Given the description of an element on the screen output the (x, y) to click on. 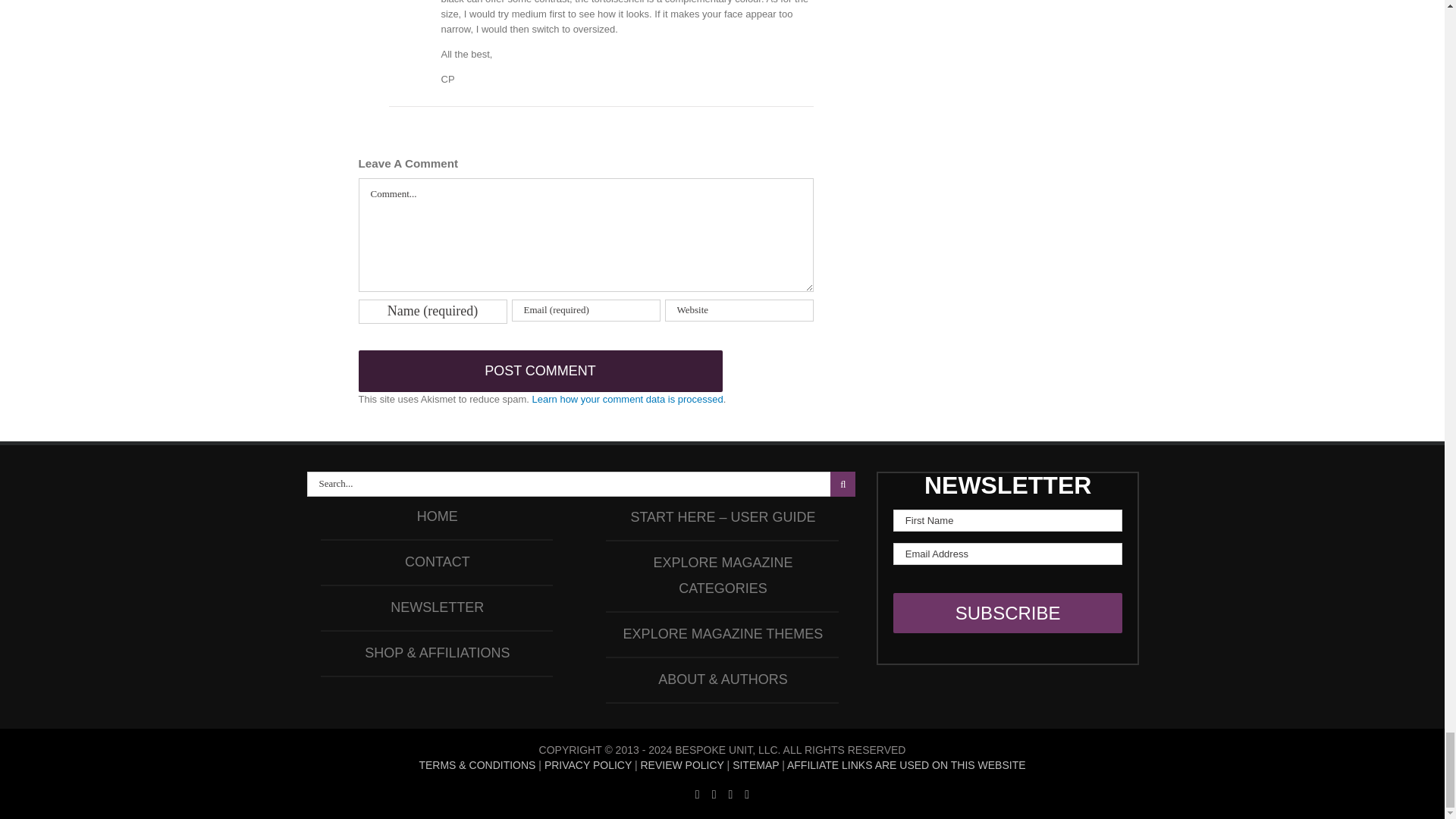
Post Comment (540, 371)
Subscribe (1007, 612)
